Given the description of an element on the screen output the (x, y) to click on. 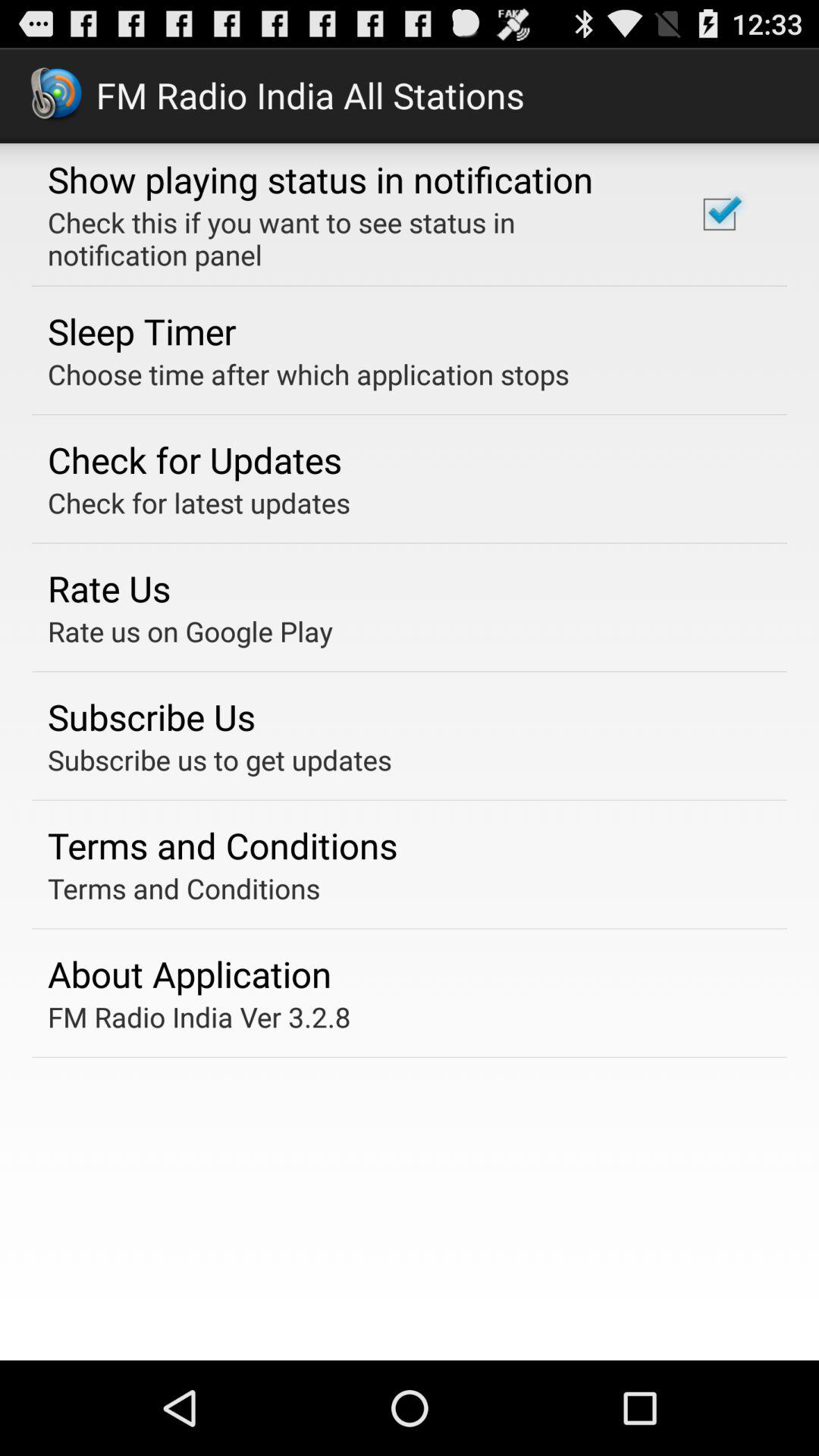
flip until check this if (351, 238)
